Given the description of an element on the screen output the (x, y) to click on. 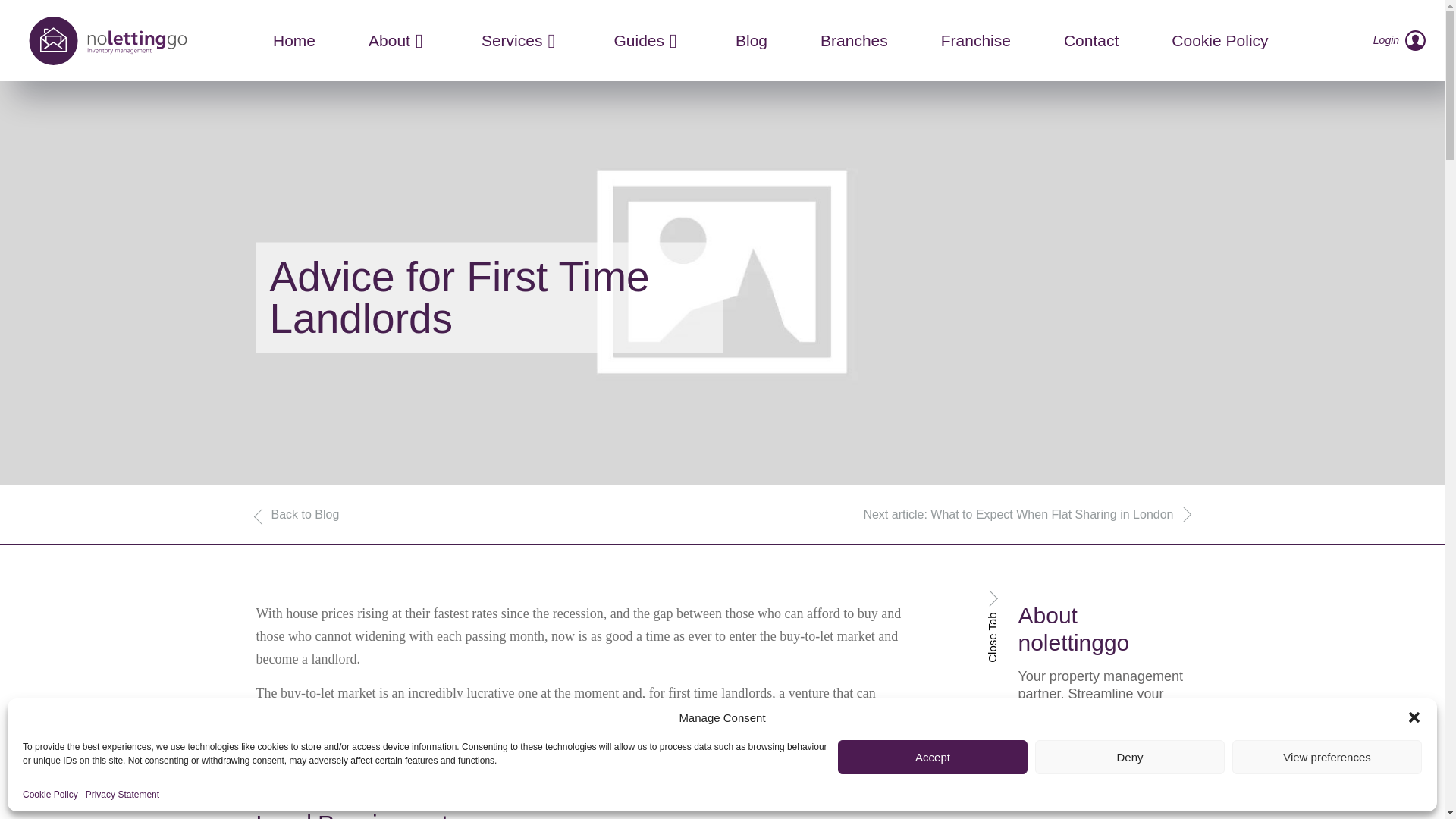
Deny (1129, 756)
Accept (932, 756)
View preferences (1326, 756)
Cookie Policy (50, 794)
Privacy Statement (121, 794)
